Given the description of an element on the screen output the (x, y) to click on. 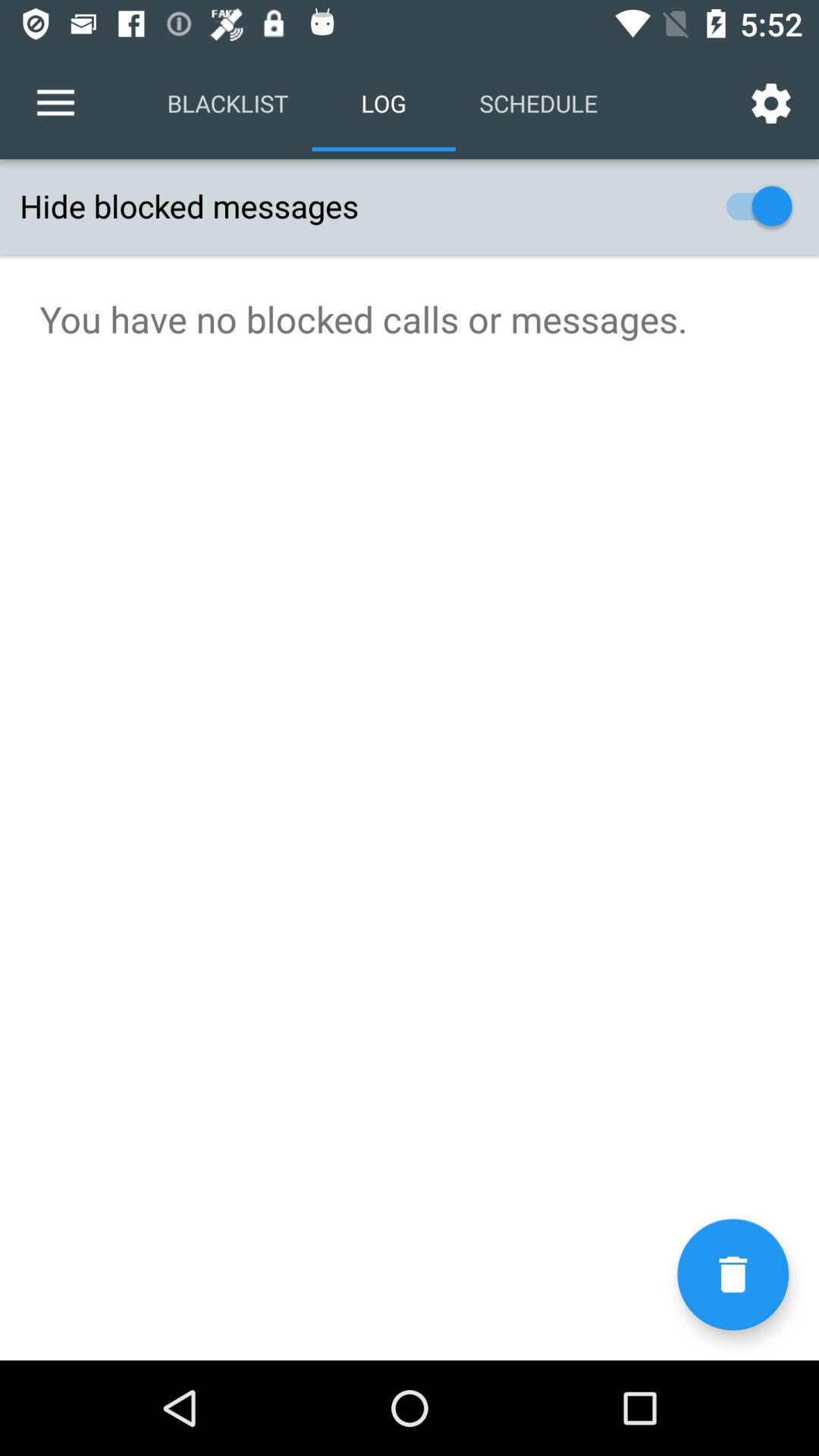
launch the item above the hide blocked messages icon (55, 103)
